Given the description of an element on the screen output the (x, y) to click on. 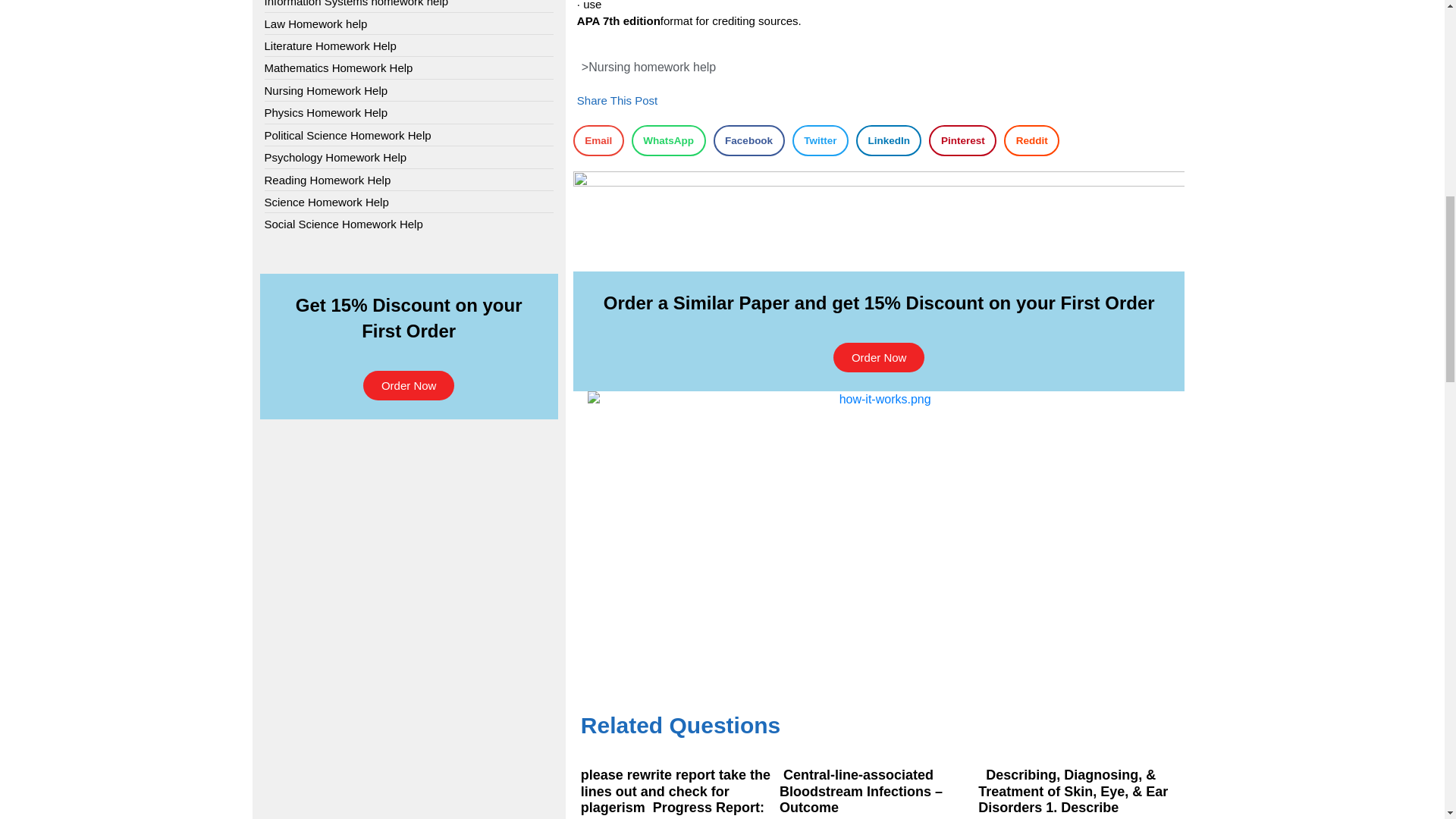
Information Systems homework help (355, 4)
Law Homework help (314, 23)
Mathematics Homework Help (337, 67)
Literature Homework Help (329, 45)
